Given the description of an element on the screen output the (x, y) to click on. 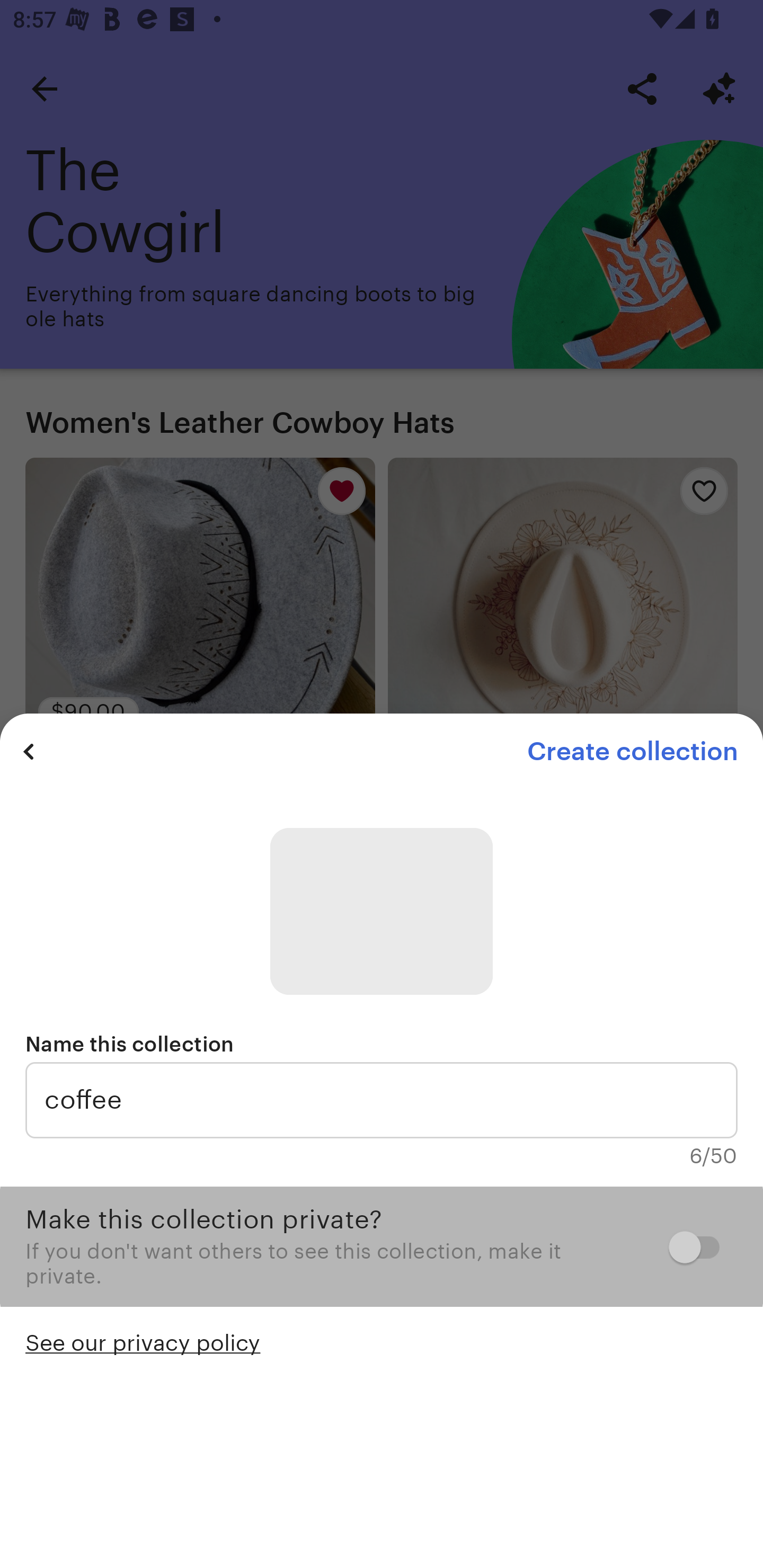
Previous (28, 751)
Create collection (632, 751)
coffee (381, 1099)
See our privacy policy (142, 1341)
